Given the description of an element on the screen output the (x, y) to click on. 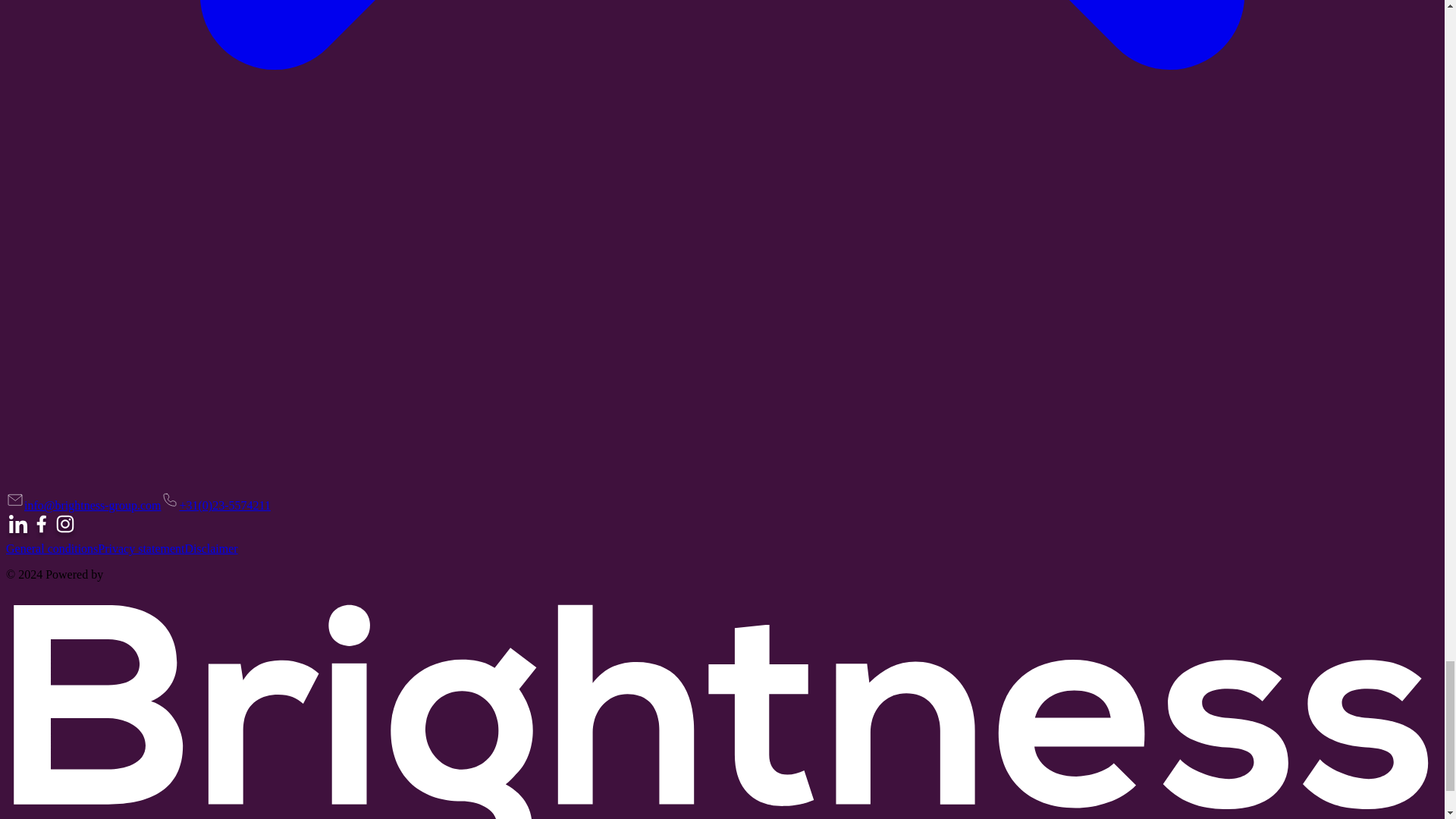
General conditions (51, 548)
Privacy statement (140, 548)
Disclaimer (210, 548)
